Given the description of an element on the screen output the (x, y) to click on. 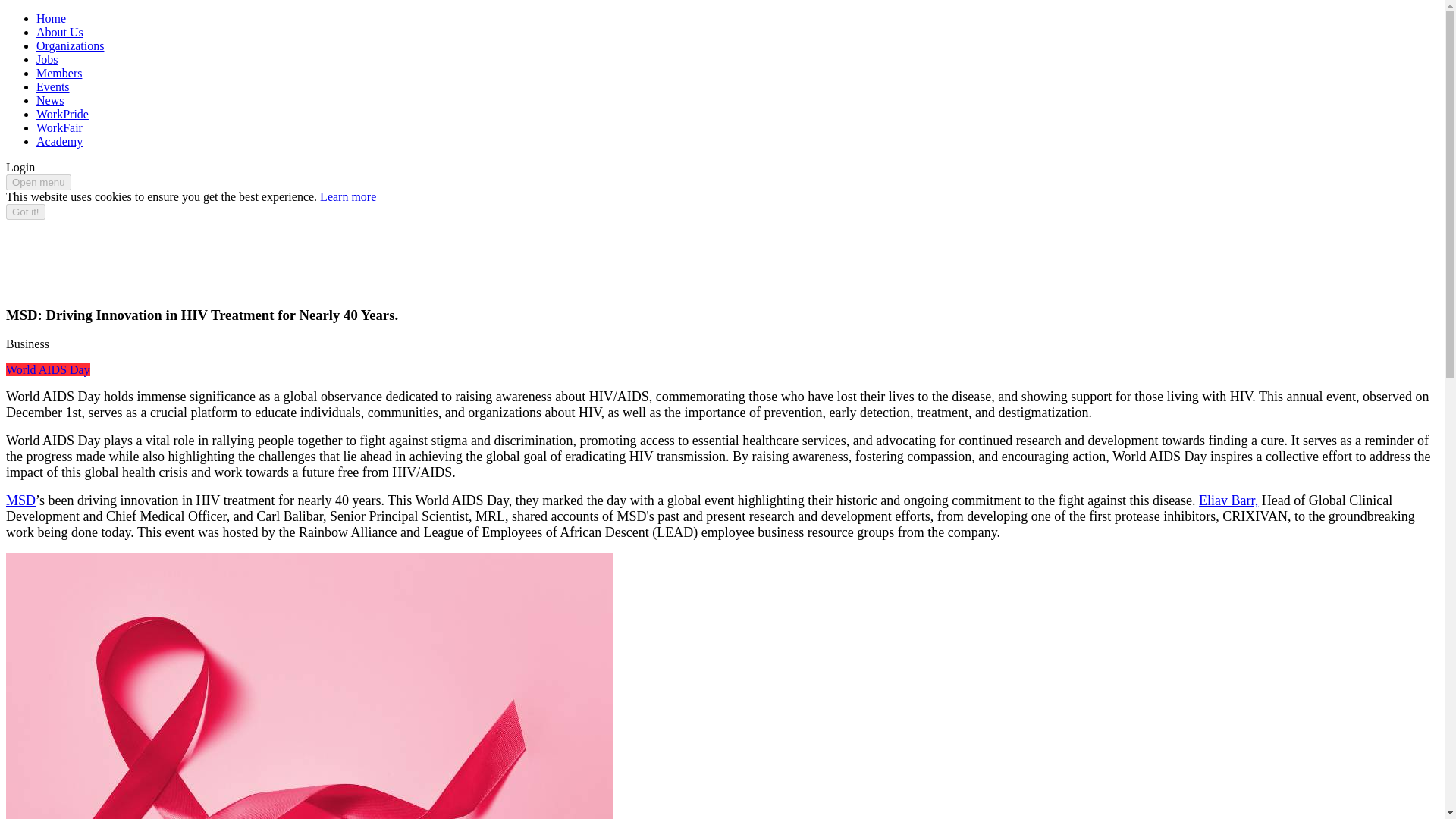
MSD (19, 500)
Open menu (38, 182)
Got it! (25, 211)
World AIDS Day (47, 369)
Jobs (47, 59)
WorkFair (59, 127)
Members (58, 72)
Login (19, 166)
Eliav Barr, (1227, 500)
WorkPride (62, 113)
